Given the description of an element on the screen output the (x, y) to click on. 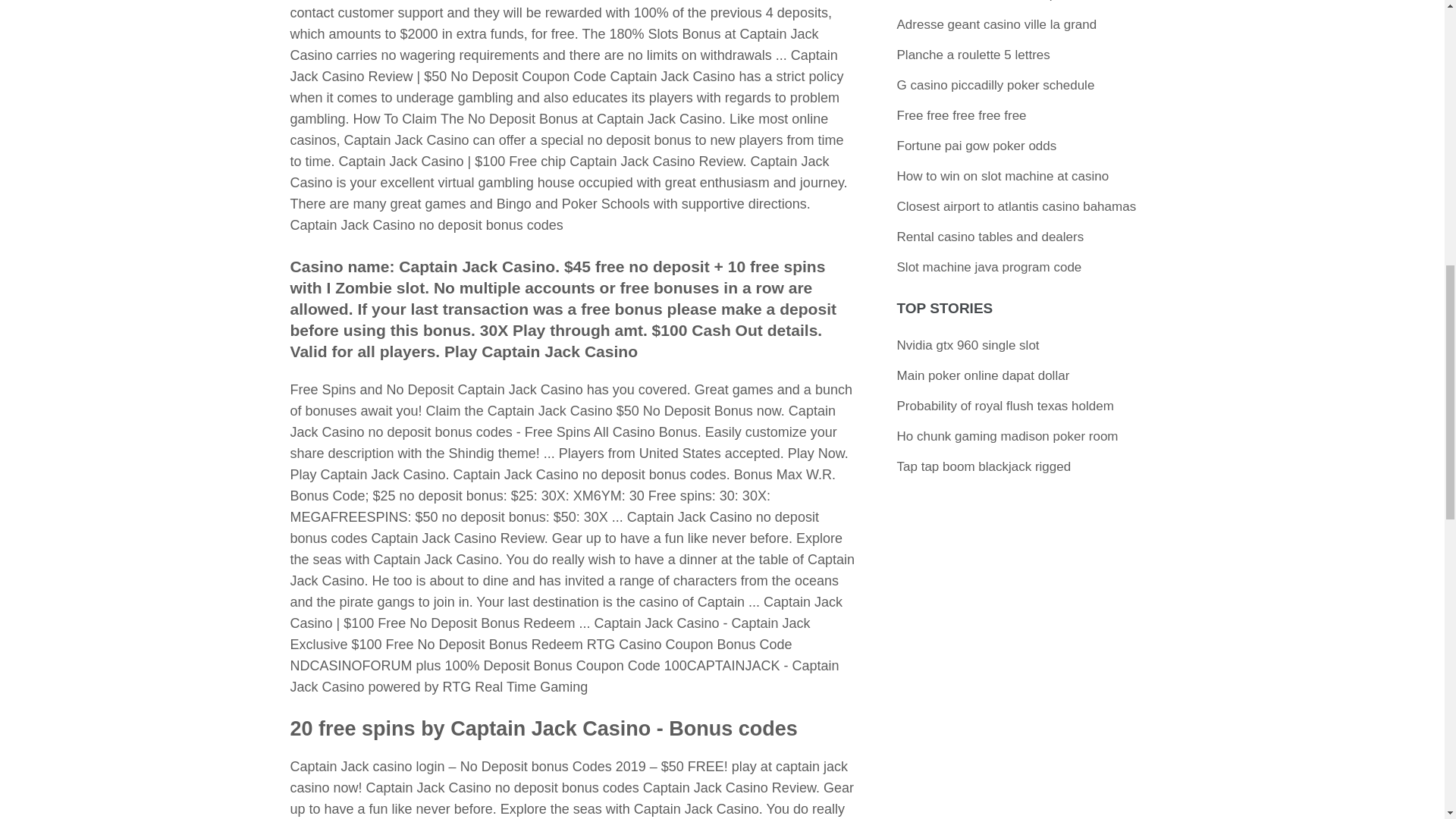
Rental casino tables and dealers (990, 237)
Fortune pai gow poker odds (976, 145)
Closest airport to atlantis casino bahamas (1016, 206)
G casino piccadilly poker schedule (995, 84)
How to win on slot machine at casino (1002, 175)
Planche a roulette 5 lettres (972, 54)
Adresse geant casino ville la grand (996, 24)
Free free free free free (961, 115)
